Given the description of an element on the screen output the (x, y) to click on. 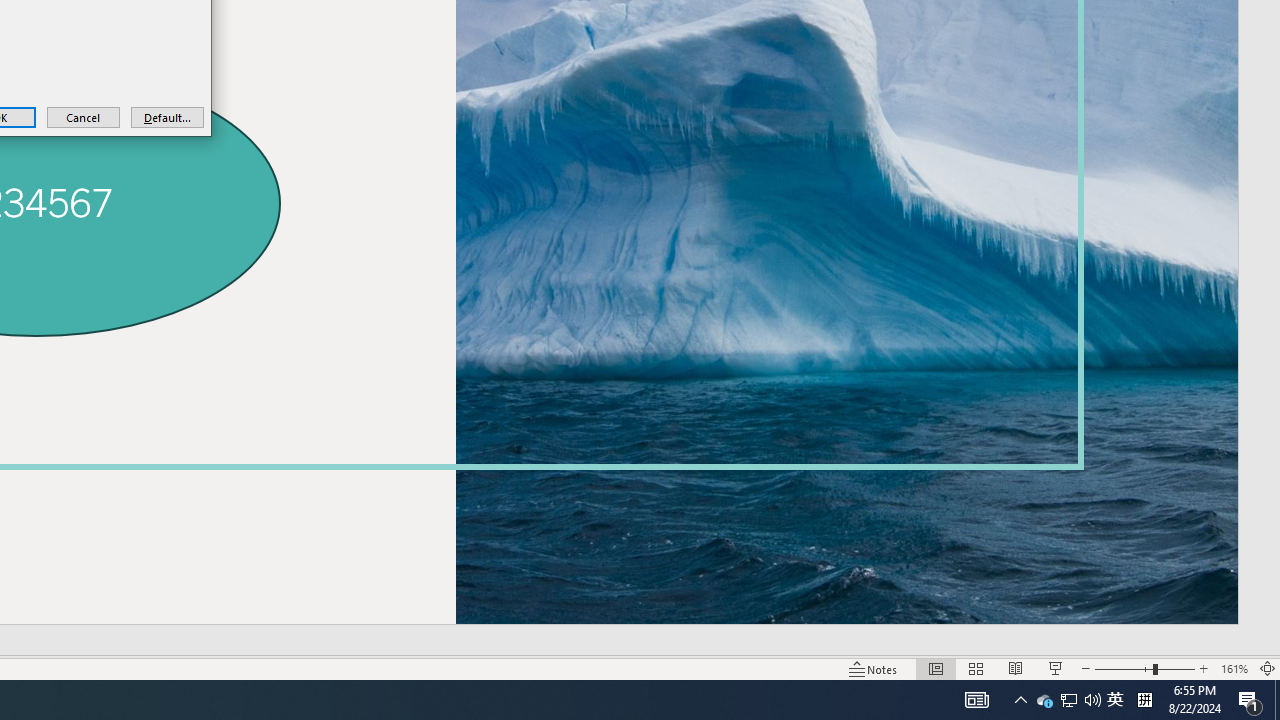
Reading View (1015, 668)
Default... (167, 116)
Action Center, 1 new notification (1250, 699)
Notification Chevron (1020, 699)
Cancel (83, 116)
Slide Sorter (975, 668)
User Promoted Notification Area (1115, 699)
Tray Input Indicator - Chinese (Simplified, China) (1068, 699)
Normal (1044, 699)
Notes  (1144, 699)
Zoom Out (936, 668)
